Given the description of an element on the screen output the (x, y) to click on. 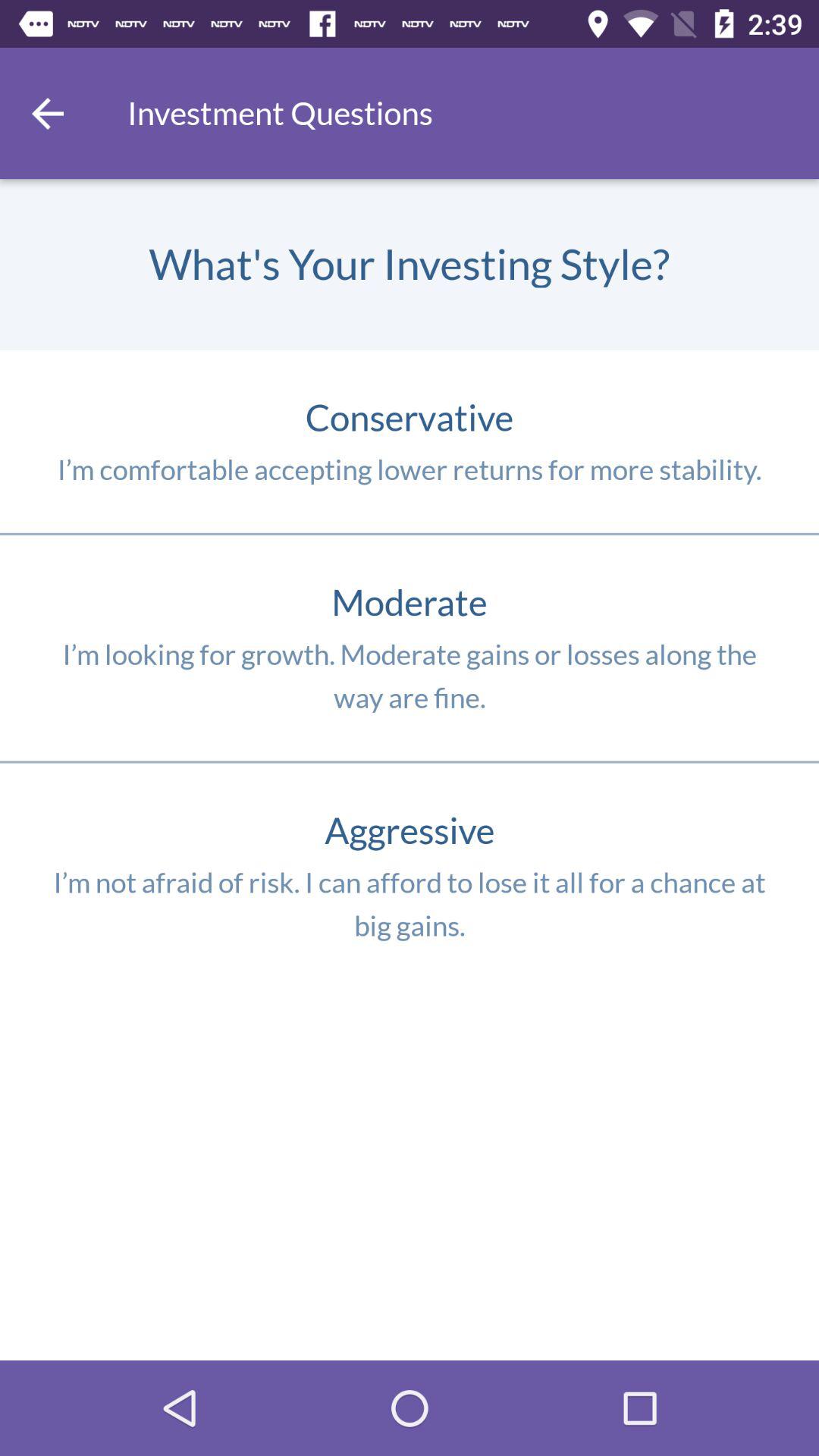
back previous (47, 113)
